Given the description of an element on the screen output the (x, y) to click on. 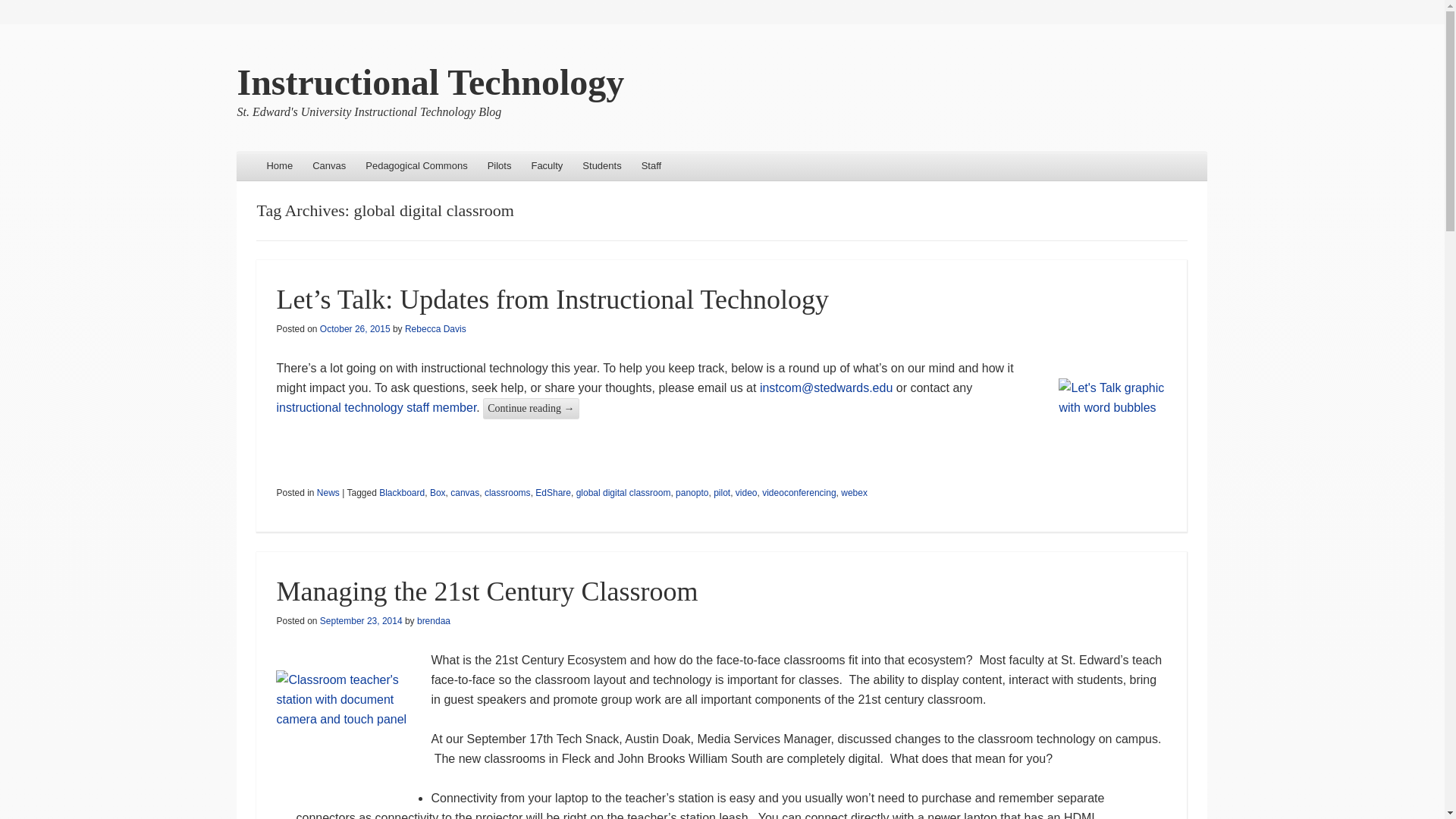
2:00 pm (355, 328)
Blackboard (401, 492)
Managing the 21st Century Classroom (486, 591)
Instructional Technology (429, 82)
Canvas (328, 165)
Instructional Technology (429, 82)
Skip to content (278, 165)
Pilots (499, 165)
Box (437, 492)
News (328, 492)
